Given the description of an element on the screen output the (x, y) to click on. 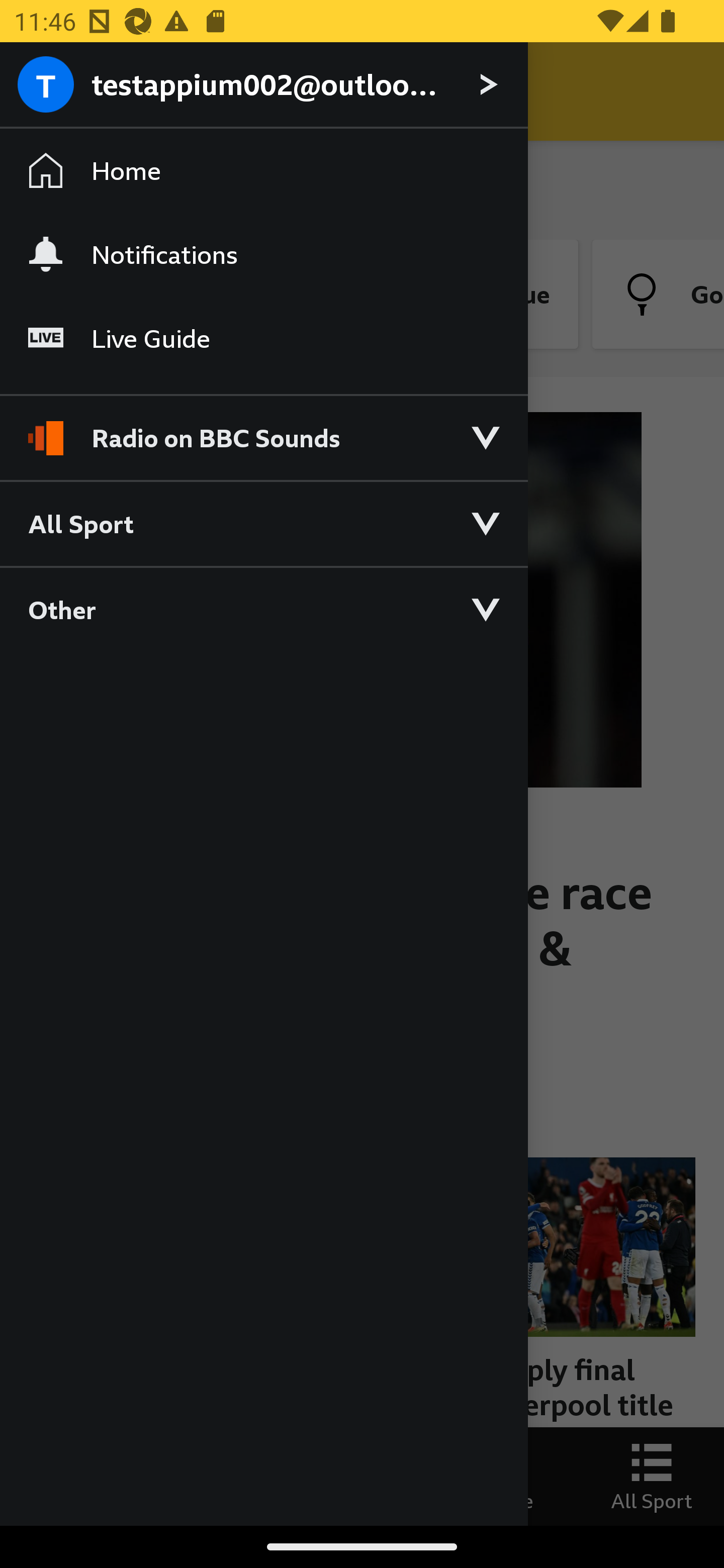
testappium002@outlook.com (263, 85)
Home (263, 170)
Notifications (263, 253)
Live Guide (263, 338)
Radio on BBC Sounds (263, 429)
All Sport (263, 522)
Other (263, 609)
